Given the description of an element on the screen output the (x, y) to click on. 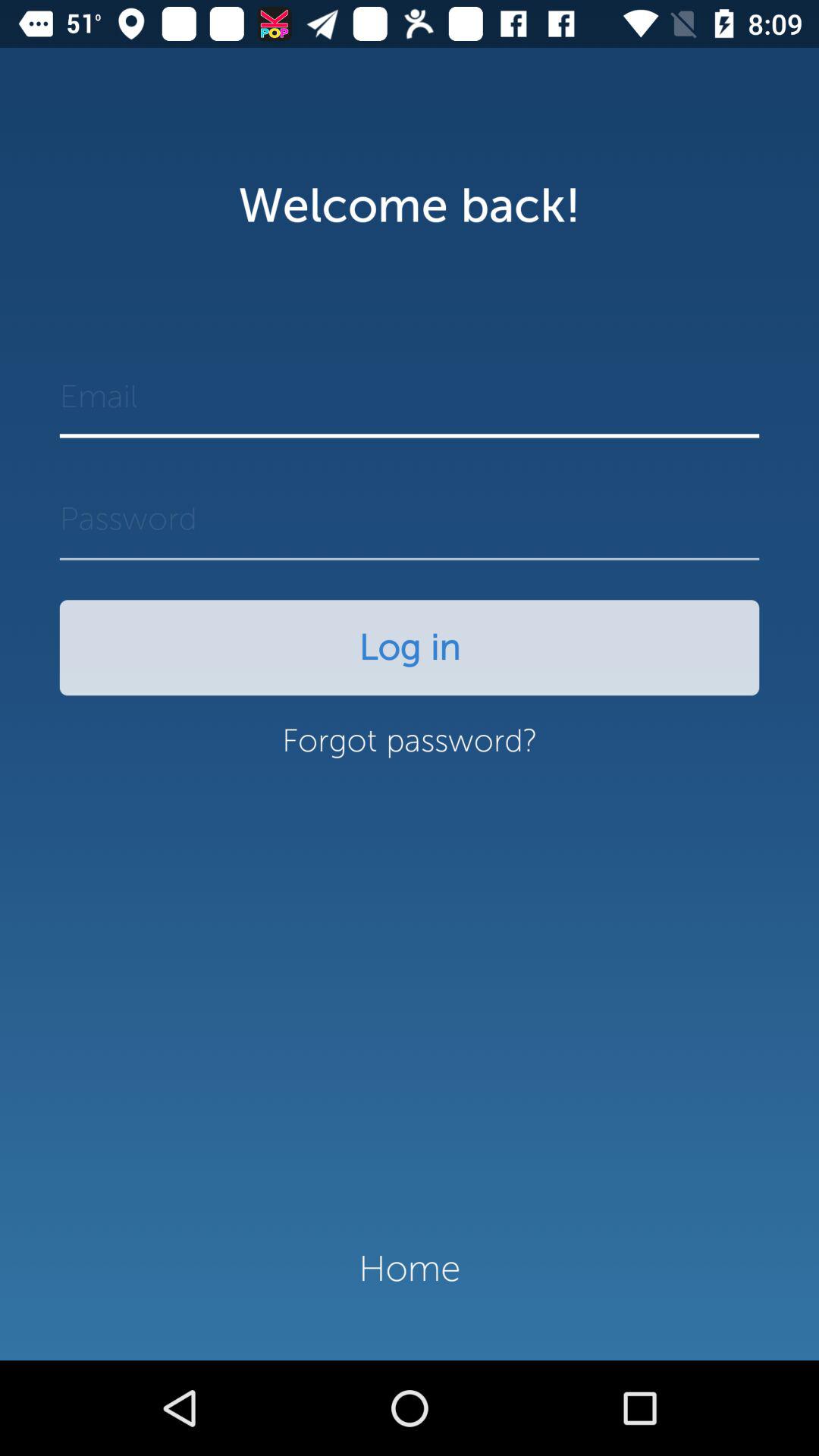
choose the log in icon (409, 647)
